Given the description of an element on the screen output the (x, y) to click on. 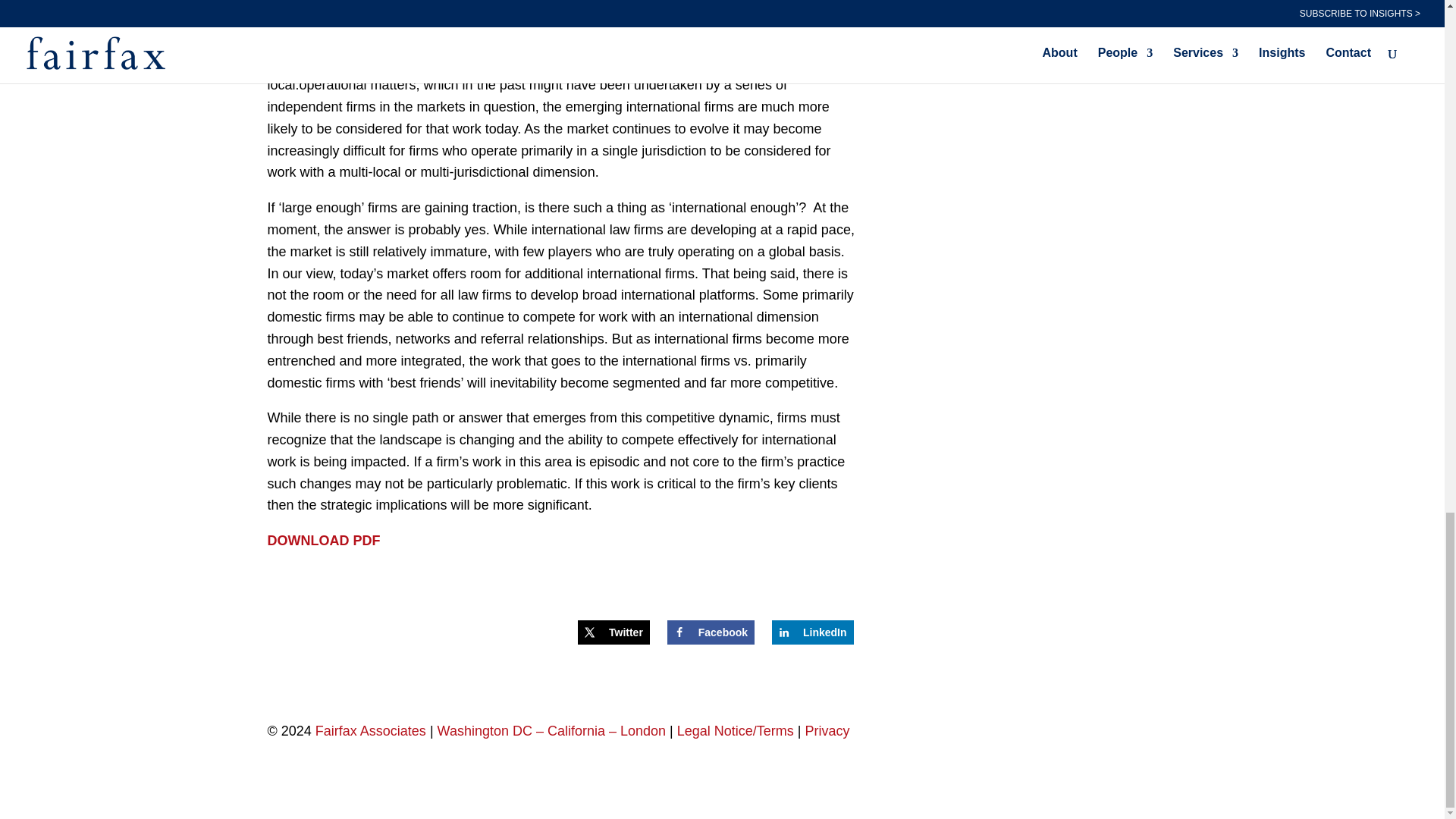
Follow on LinkedIn (1164, 732)
DOWNLOAD PDF (323, 540)
Twitter (613, 631)
Facebook (710, 631)
LinkedIn (812, 631)
Share on X (613, 631)
Follow on X (1134, 732)
Share on LinkedIn (812, 631)
Share on Facebook (710, 631)
